Given the description of an element on the screen output the (x, y) to click on. 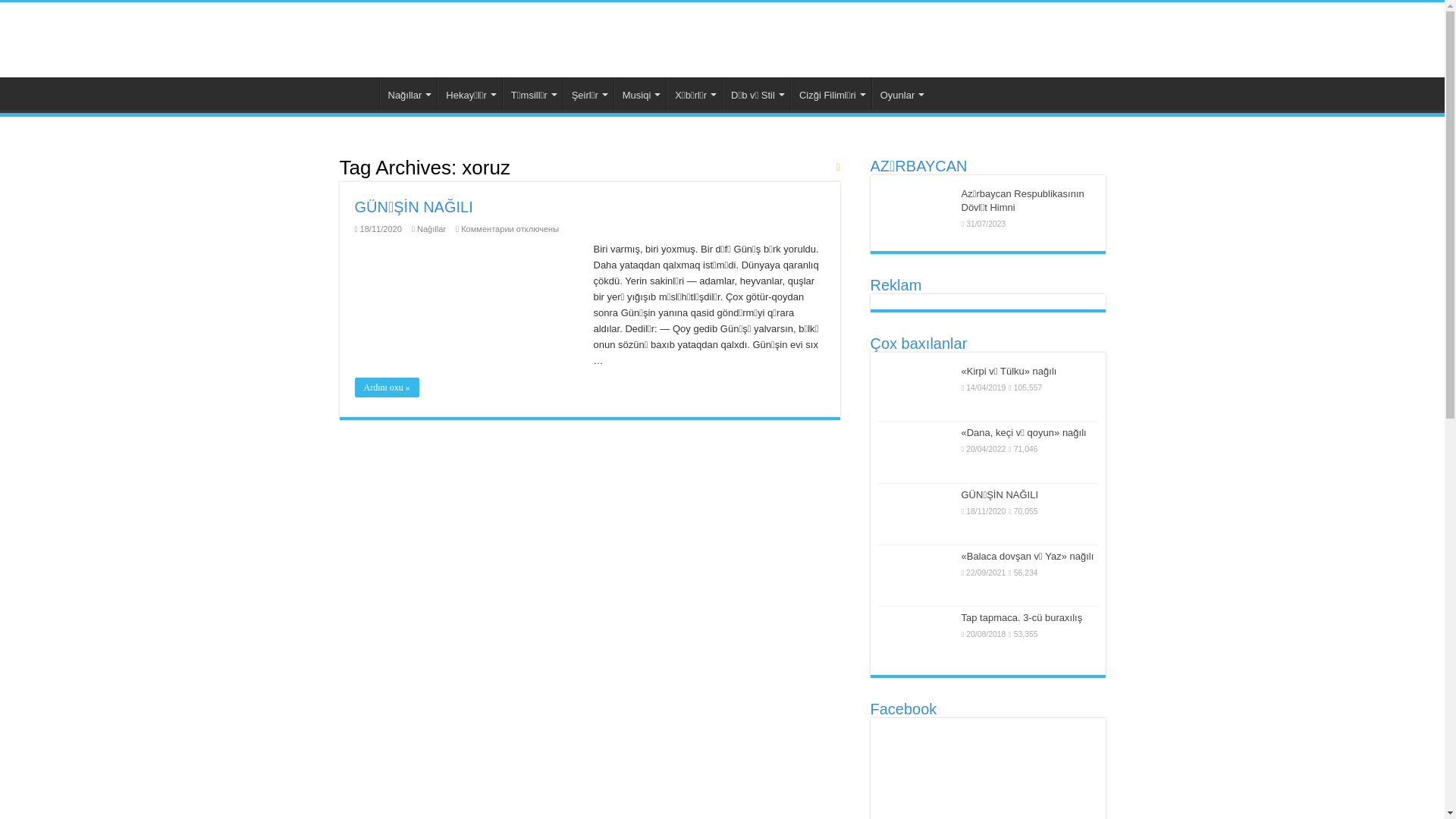
Musiqi Element type: text (640, 93)
Kirpi Element type: text (359, 93)
Feed Subscription Element type: hover (837, 166)
Oyunlar Element type: text (901, 93)
